Given the description of an element on the screen output the (x, y) to click on. 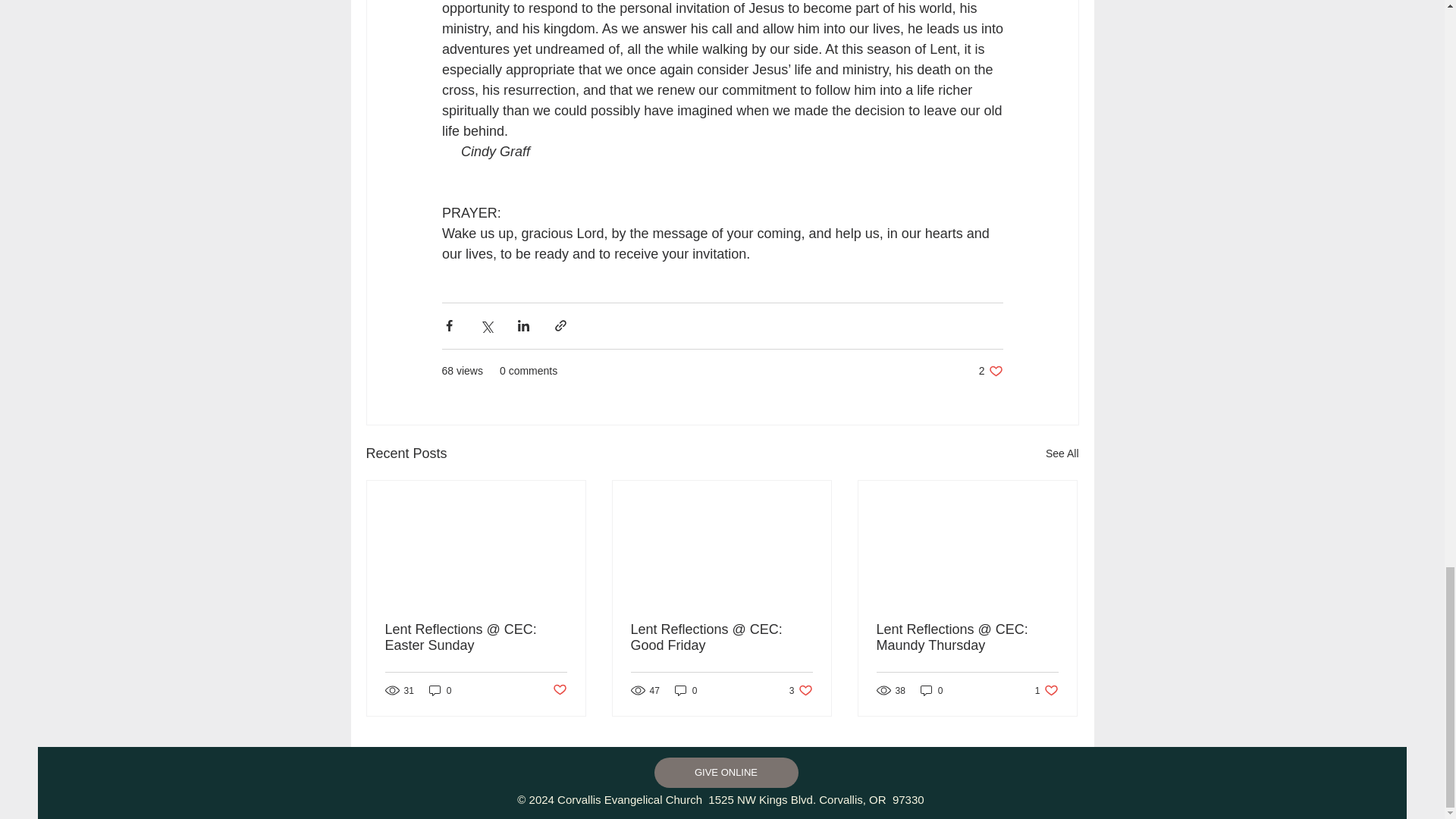
See All (990, 370)
